Given the description of an element on the screen output the (x, y) to click on. 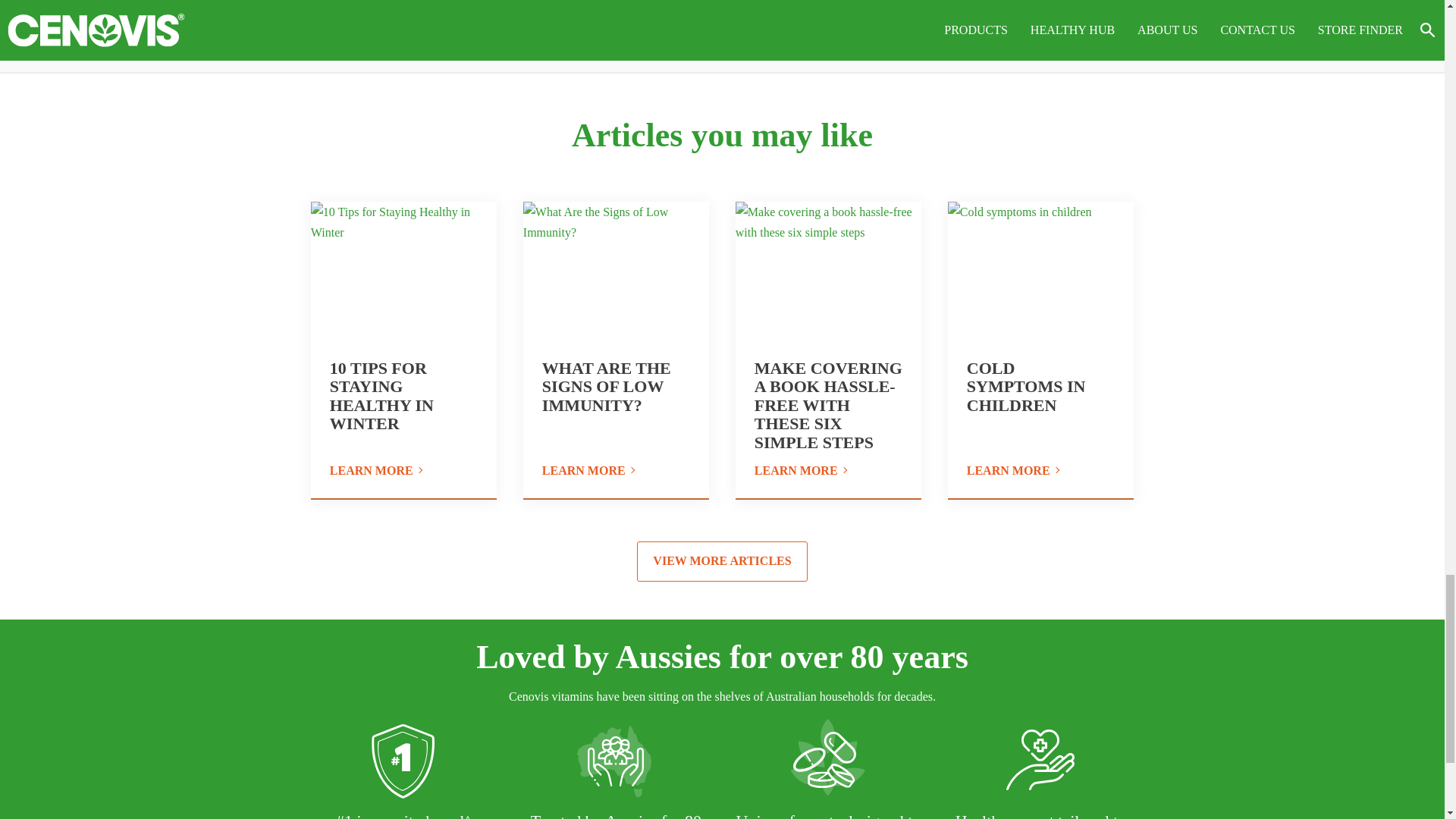
LEARN MORE (403, 471)
learn more (828, 471)
learn more (403, 471)
learn more (615, 471)
10 TIPS FOR STAYING HEALTHY IN WINTER (381, 395)
View more articles (721, 561)
WHAT ARE THE SIGNS OF LOW IMMUNITY? (606, 386)
learn more (1040, 471)
